Given the description of an element on the screen output the (x, y) to click on. 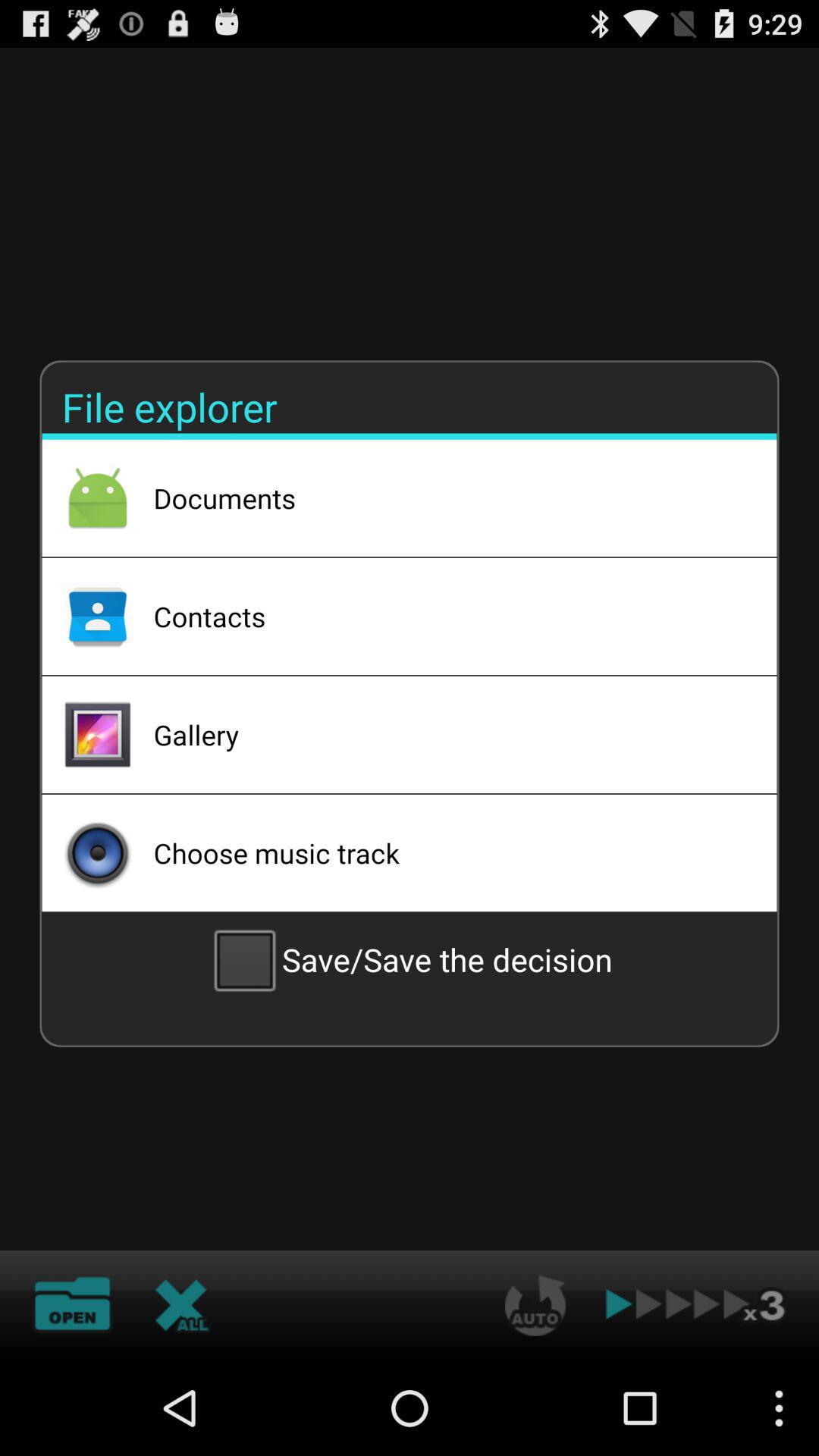
choose the item above the save save the (445, 852)
